Given the description of an element on the screen output the (x, y) to click on. 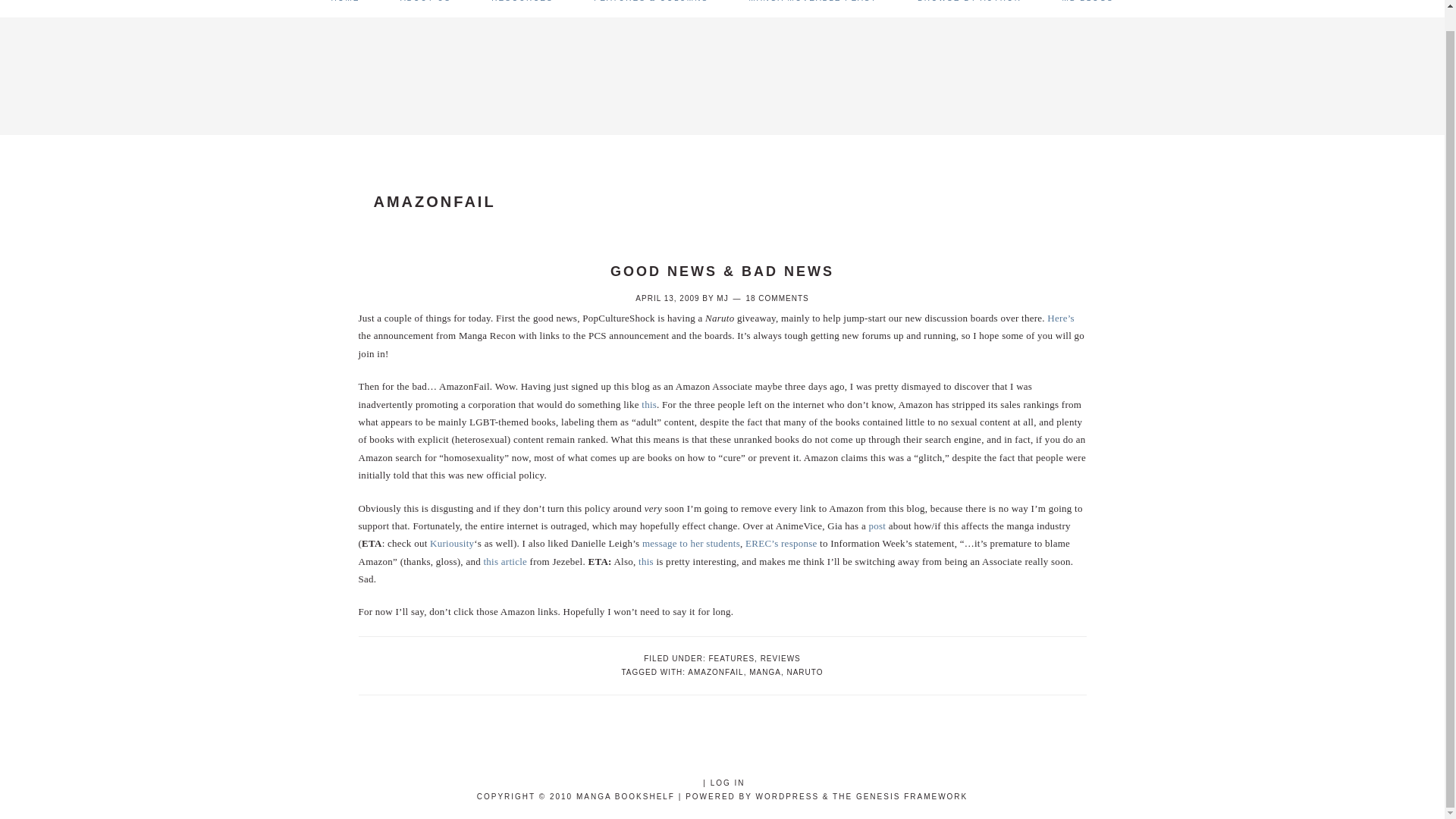
ABOUT US (425, 8)
RESOURCES (521, 8)
Posts by MJ (722, 298)
HOME (344, 8)
MANGA MOVEABLE FEAST (813, 8)
